Given the description of an element on the screen output the (x, y) to click on. 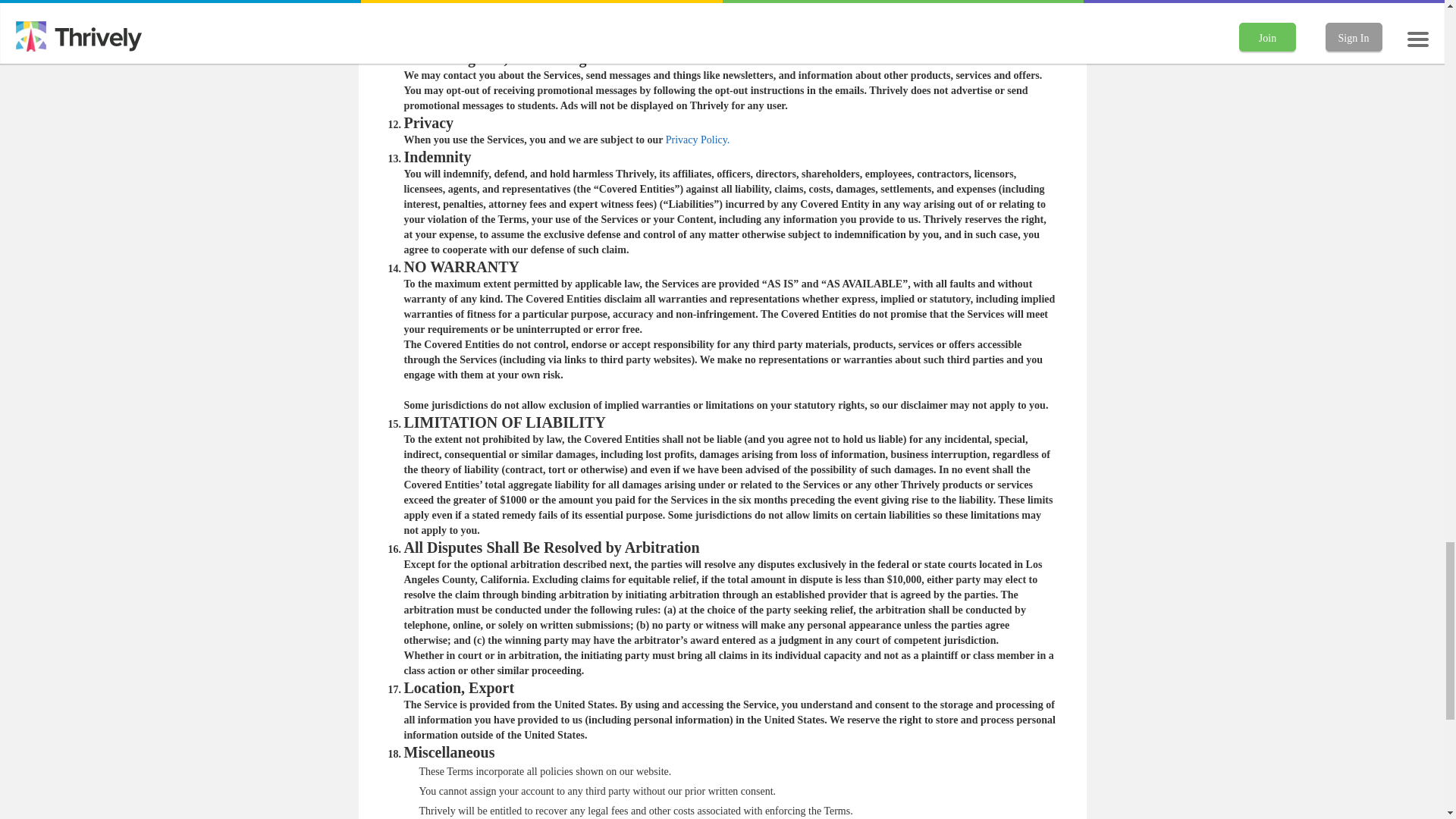
Privacy Policy. (697, 139)
